Given the description of an element on the screen output the (x, y) to click on. 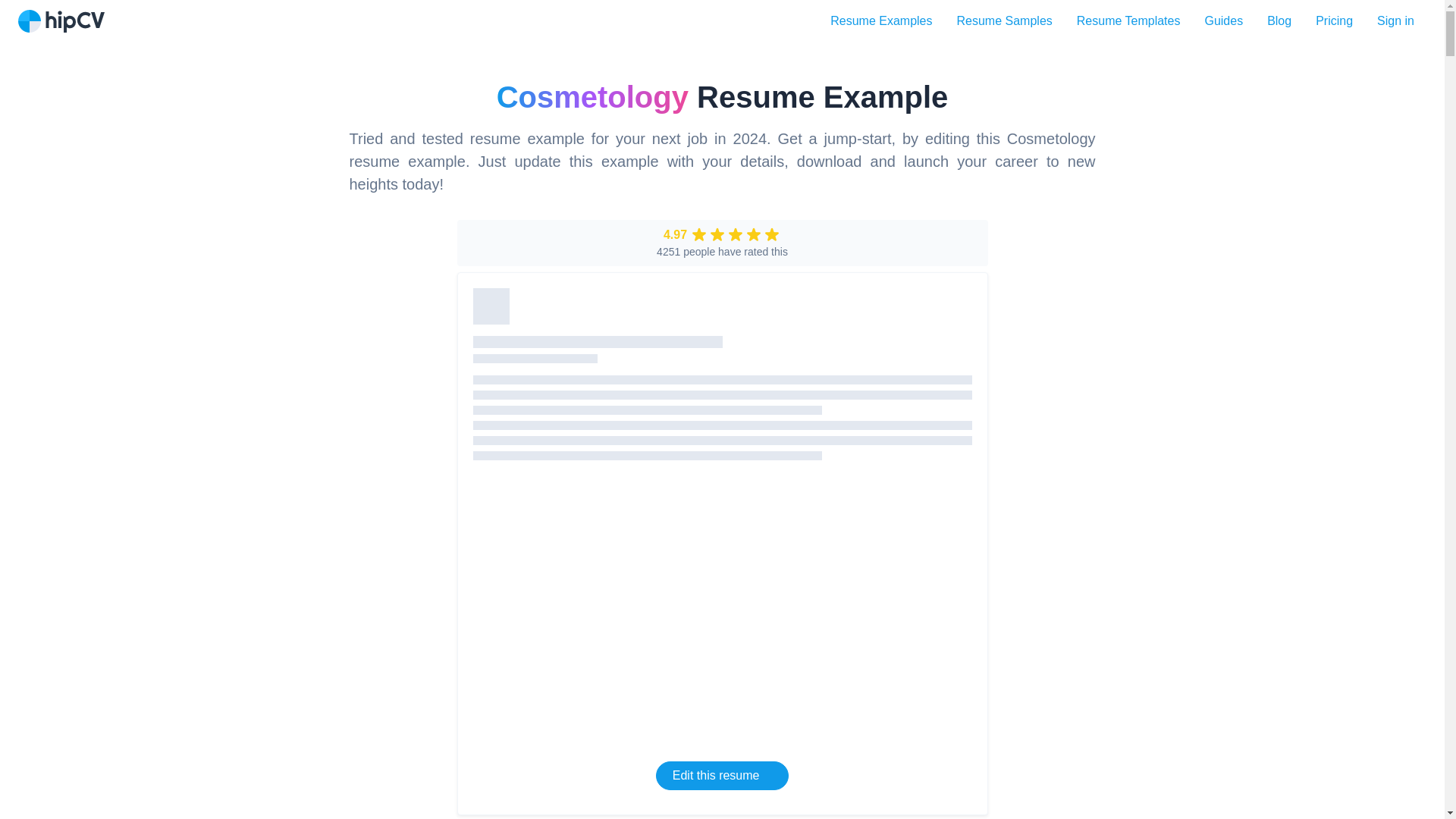
Pricing (1334, 20)
Guides (1223, 20)
Resume Examples (880, 20)
Resume Templates (1128, 20)
  Edit this resume (722, 775)
Blog (1279, 20)
Sign in (1395, 20)
Resume Samples (1004, 20)
